Given the description of an element on the screen output the (x, y) to click on. 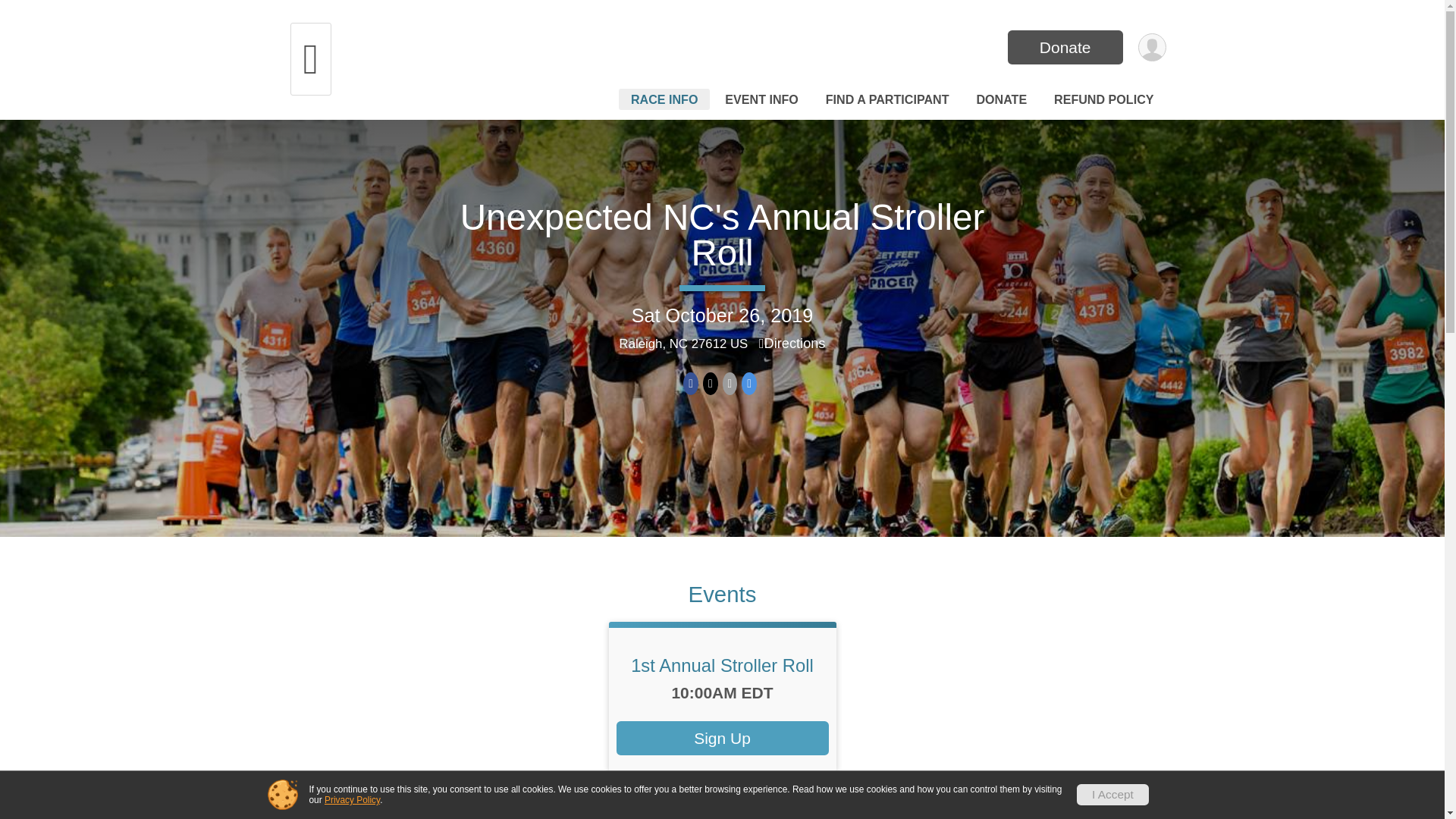
1st Annual Stroller Roll (721, 665)
Unexpected NC's Annual Stroller Roll (722, 235)
RACE INFO (664, 98)
DONATE (1000, 98)
Directions (791, 343)
Donate (1064, 47)
REFUND POLICY (1103, 98)
EVENT INFO (761, 98)
Sign Up (721, 738)
FIND A PARTICIPANT (887, 98)
